Given the description of an element on the screen output the (x, y) to click on. 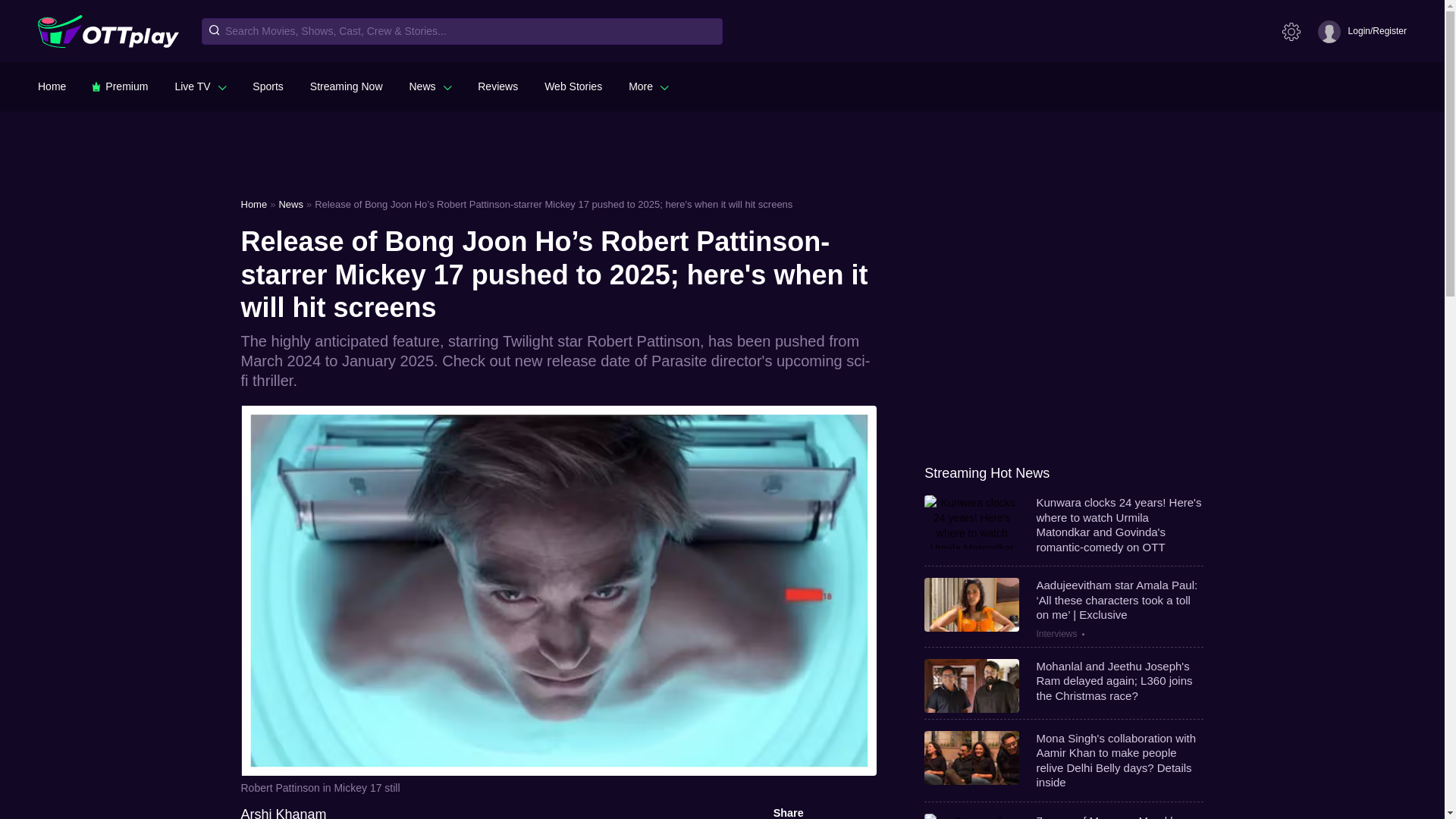
Live TV (199, 86)
Streaming Now (346, 86)
Premium (120, 86)
Web Stories (573, 86)
News (430, 86)
